Given the description of an element on the screen output the (x, y) to click on. 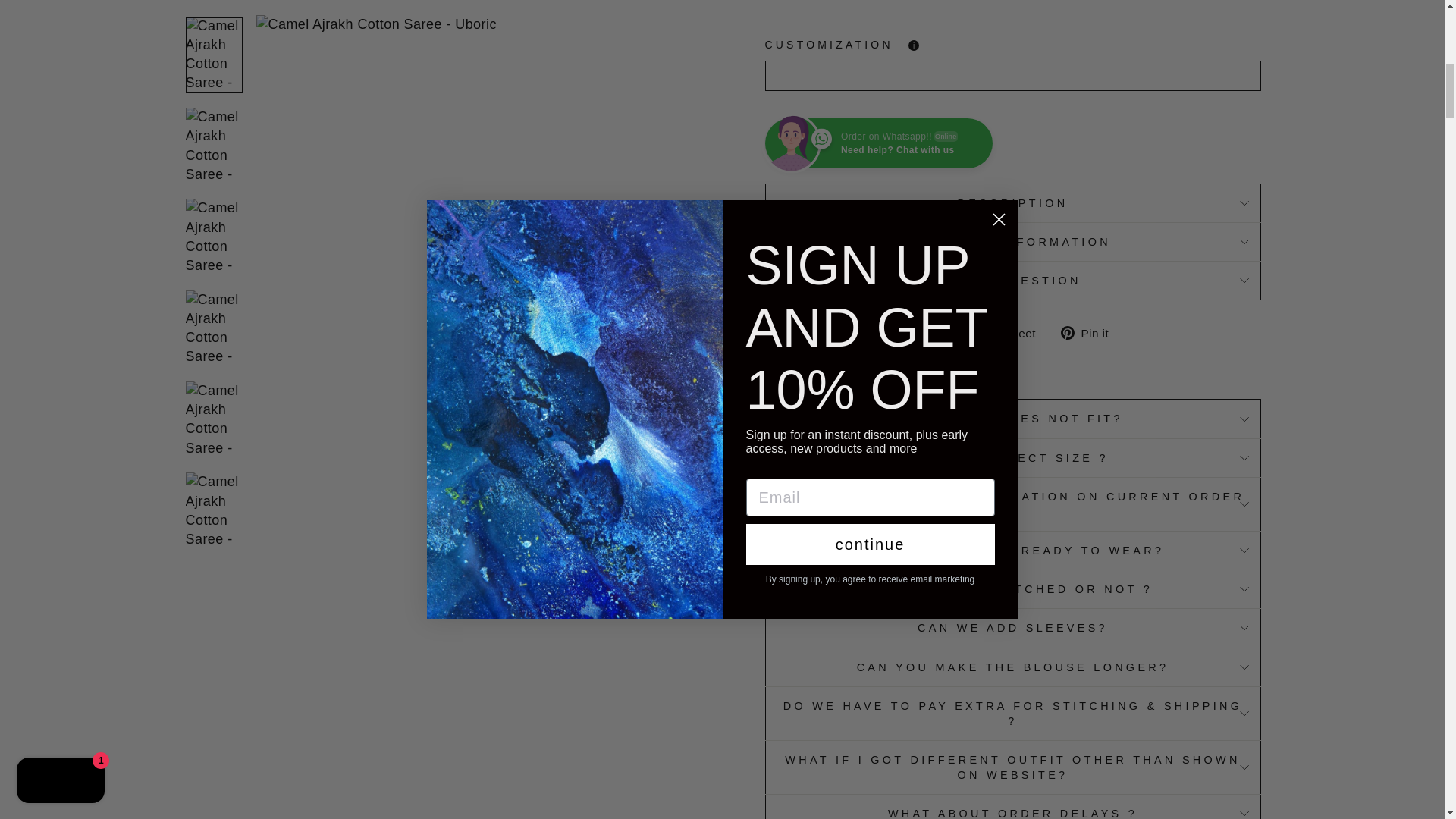
trust-badges-widget (1012, 5)
Tweet on Twitter (1014, 332)
Share on Facebook (937, 332)
Pin on Pinterest (1090, 332)
